Given the description of an element on the screen output the (x, y) to click on. 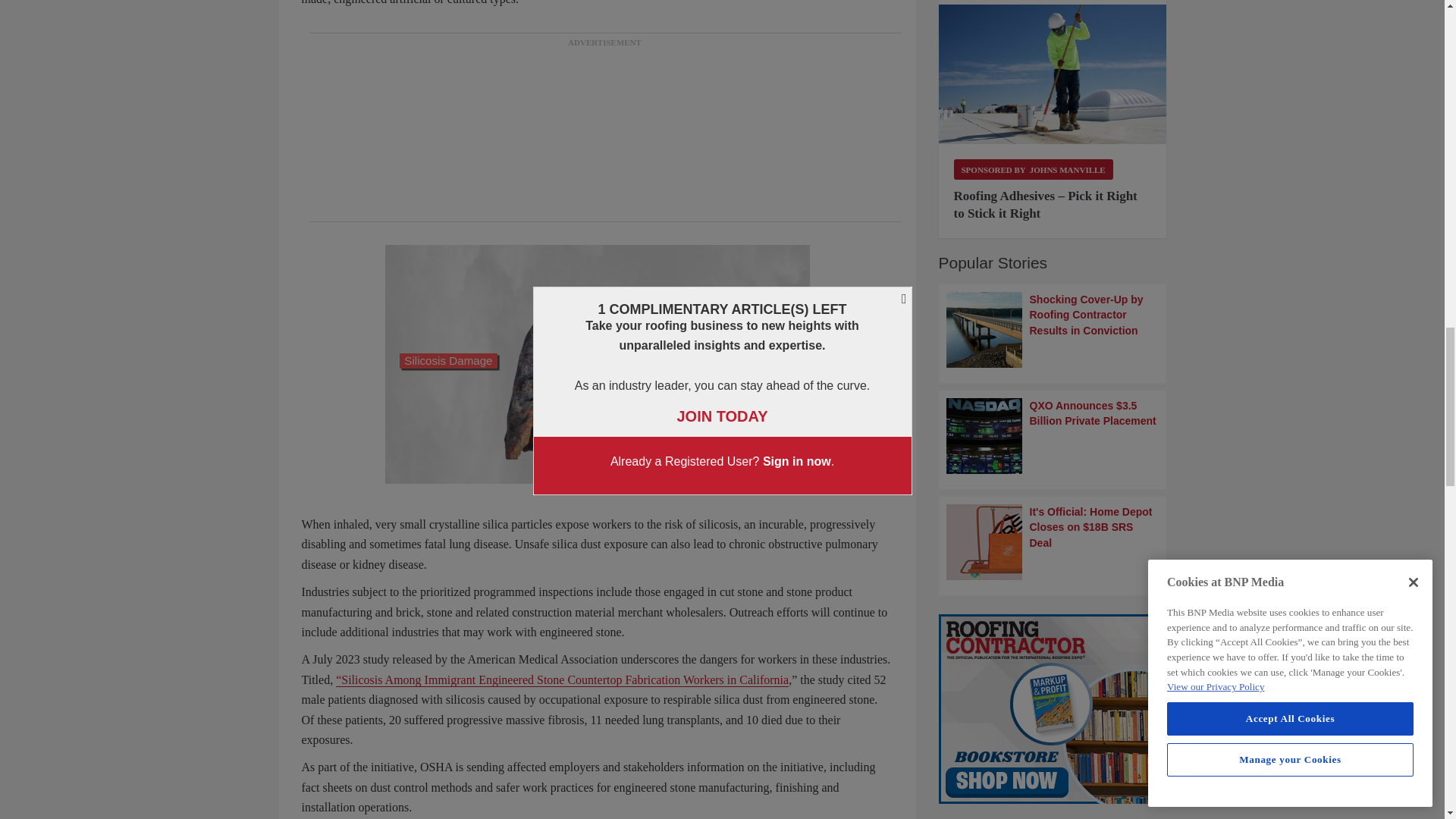
Sponsored by Johns Manville (1033, 168)
